Given the description of an element on the screen output the (x, y) to click on. 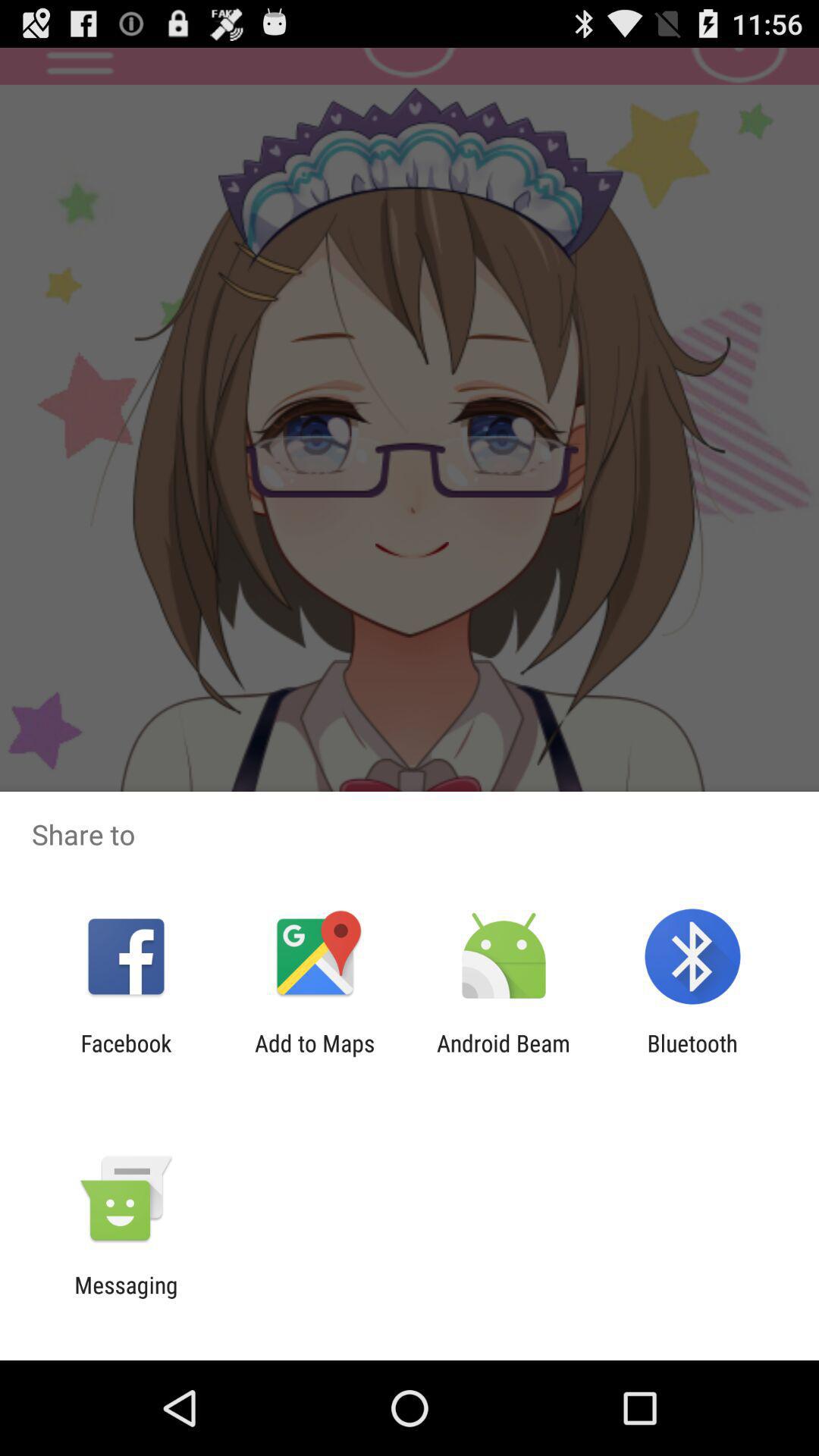
select the app at the bottom right corner (692, 1056)
